Given the description of an element on the screen output the (x, y) to click on. 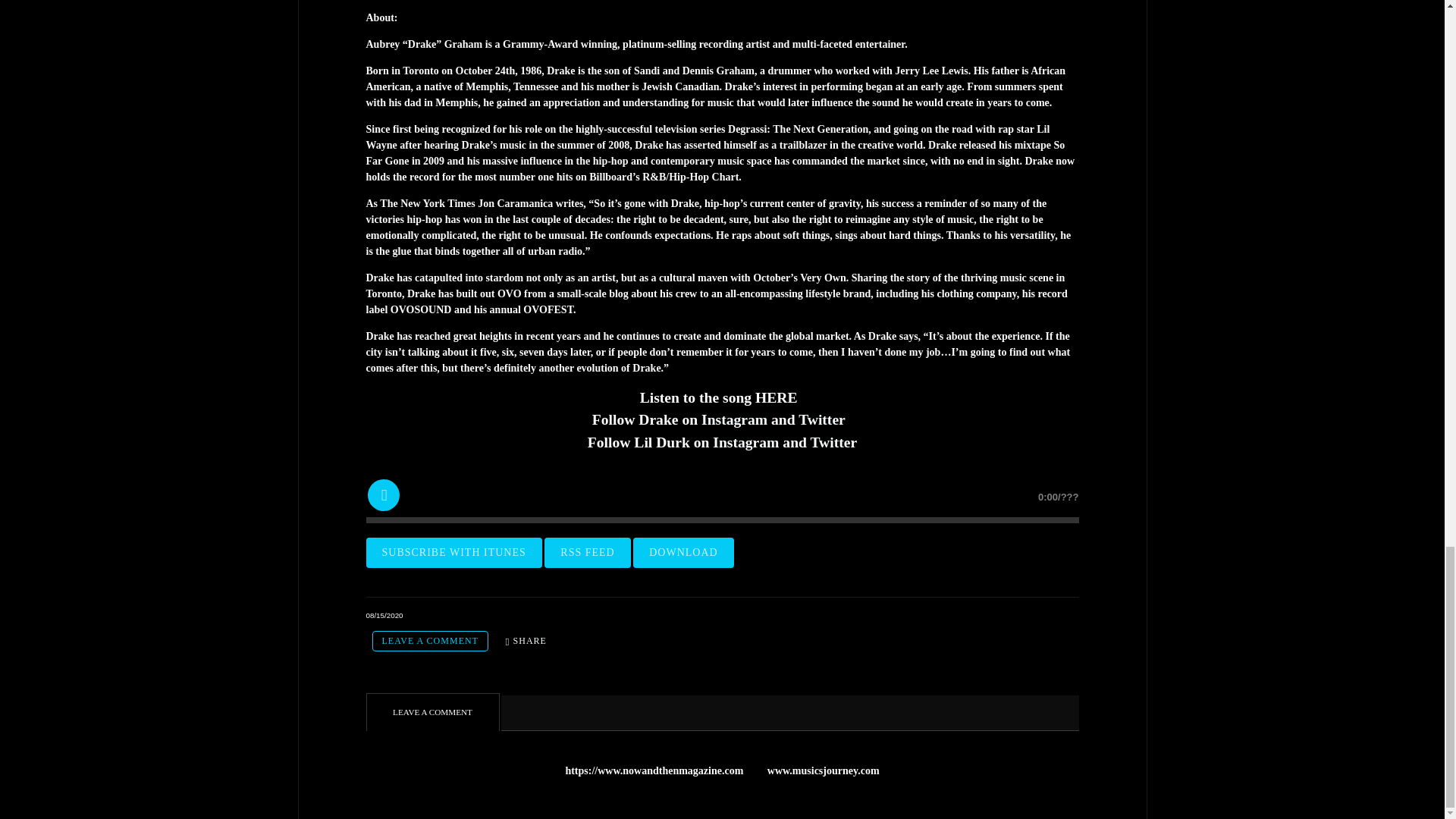
August 15, 2020 21:10 (384, 614)
Play (382, 494)
Leave a comment (429, 640)
